Given the description of an element on the screen output the (x, y) to click on. 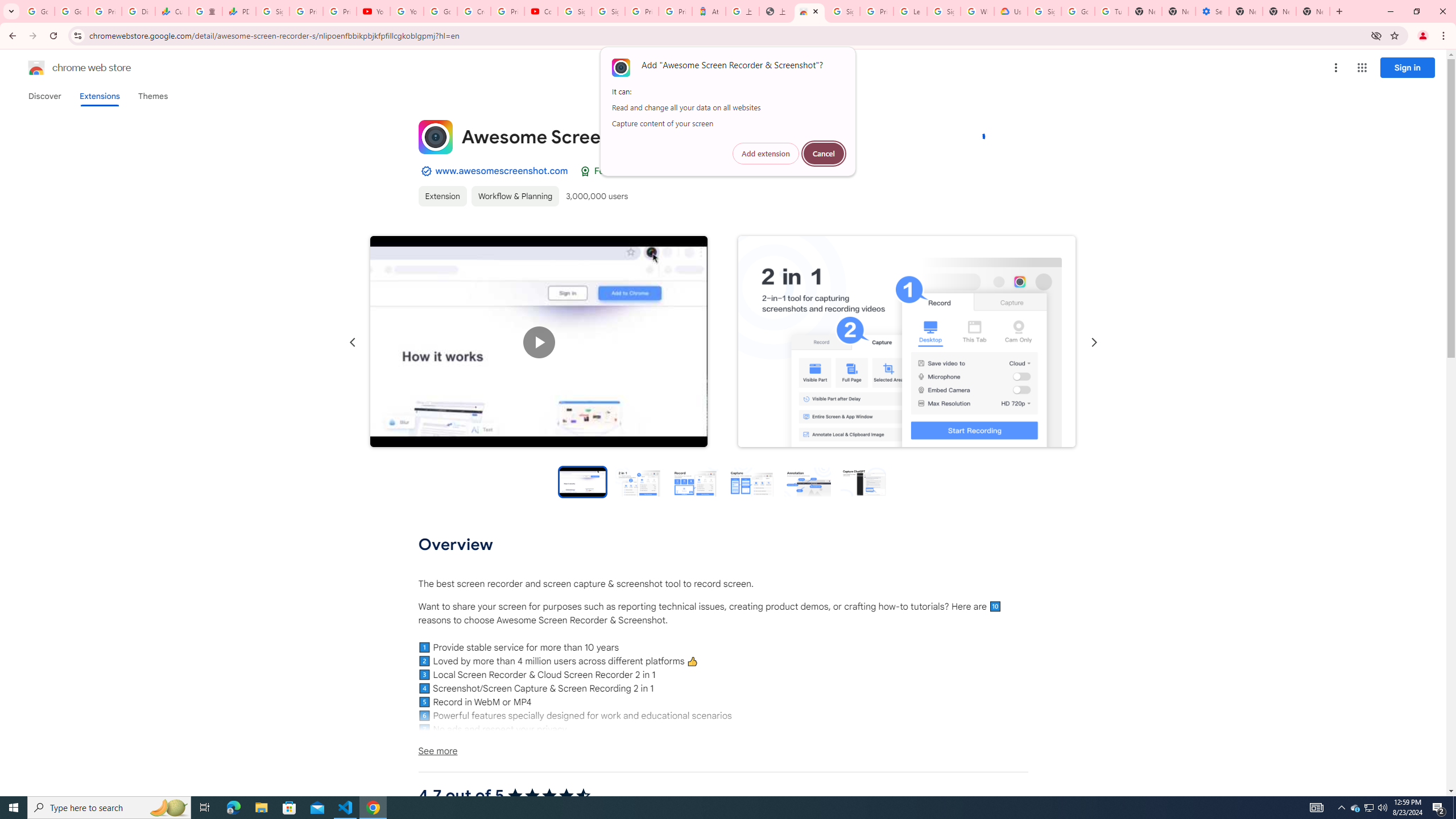
Atour Hotel - Google hotels (708, 11)
Awesome Screen Recorder & Screenshot - Chrome Web Store (809, 11)
Action Center, 2 new notifications (1439, 807)
AutomationID: 4105 (1316, 807)
Chrome Web Store logo chrome web store (67, 67)
Discover (43, 95)
Preview slide 5 (807, 481)
